Given the description of an element on the screen output the (x, y) to click on. 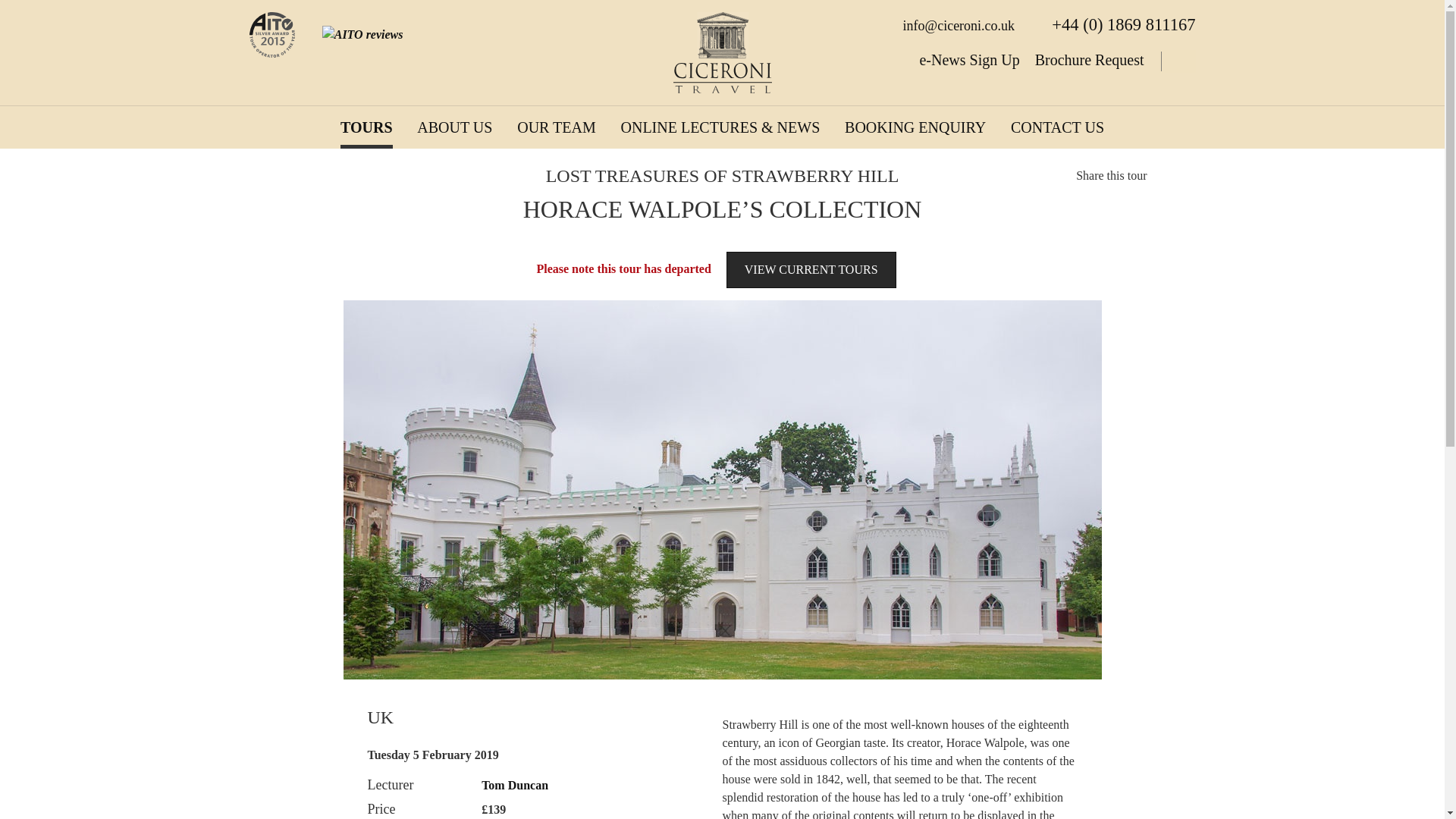
VIEW CURRENT TOURS (811, 269)
e-News Sign Up (968, 59)
BOOKING ENQUIRY (914, 127)
OUR TEAM (555, 127)
Tom Duncan (514, 784)
Search (1176, 61)
CONTACT US (1056, 127)
ABOUT US (454, 127)
TOURS (366, 127)
Ciceroni Travel (721, 53)
Brochure Request (1089, 59)
